Given the description of an element on the screen output the (x, y) to click on. 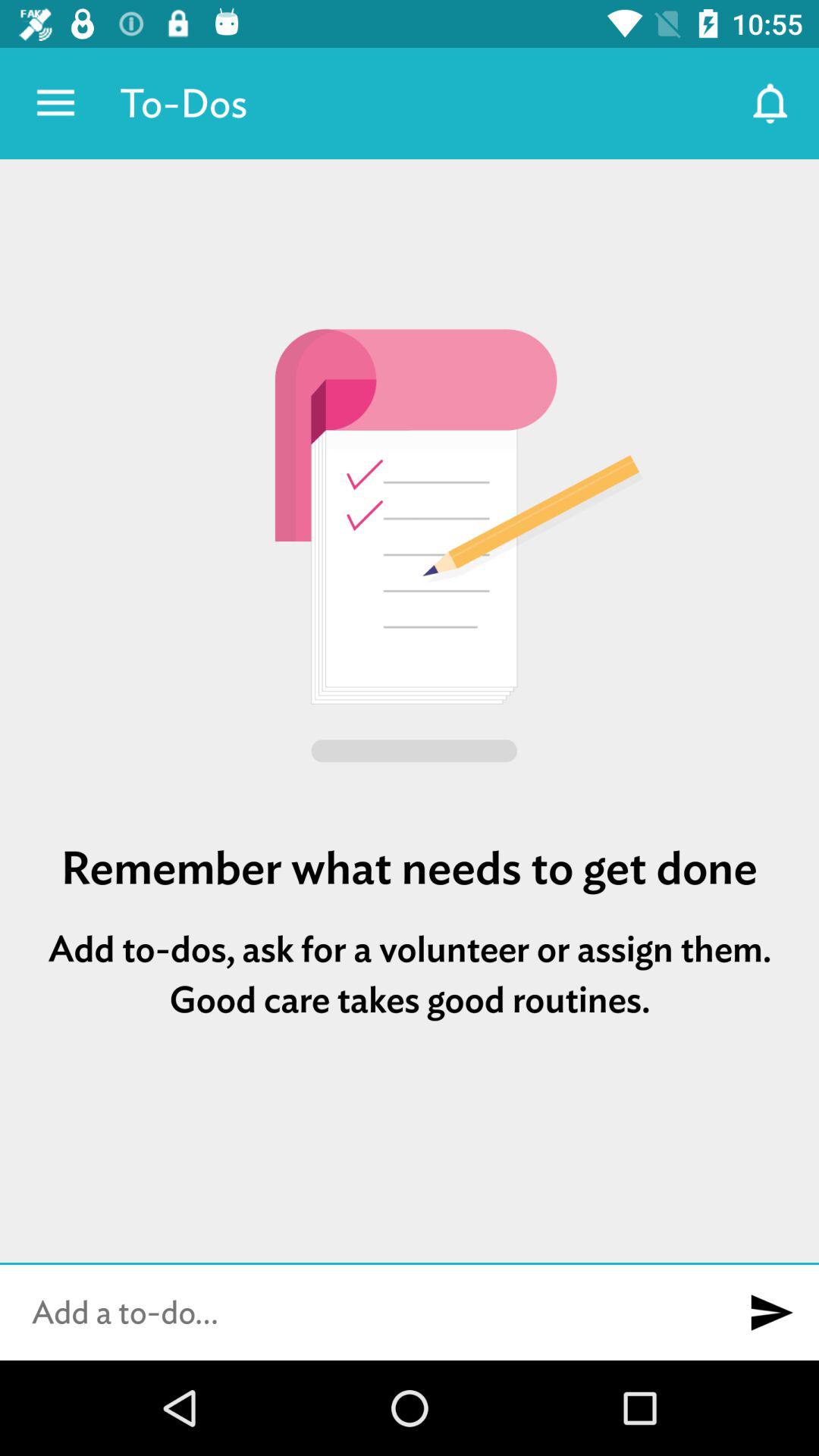
add new to-do item (771, 1312)
